Given the description of an element on the screen output the (x, y) to click on. 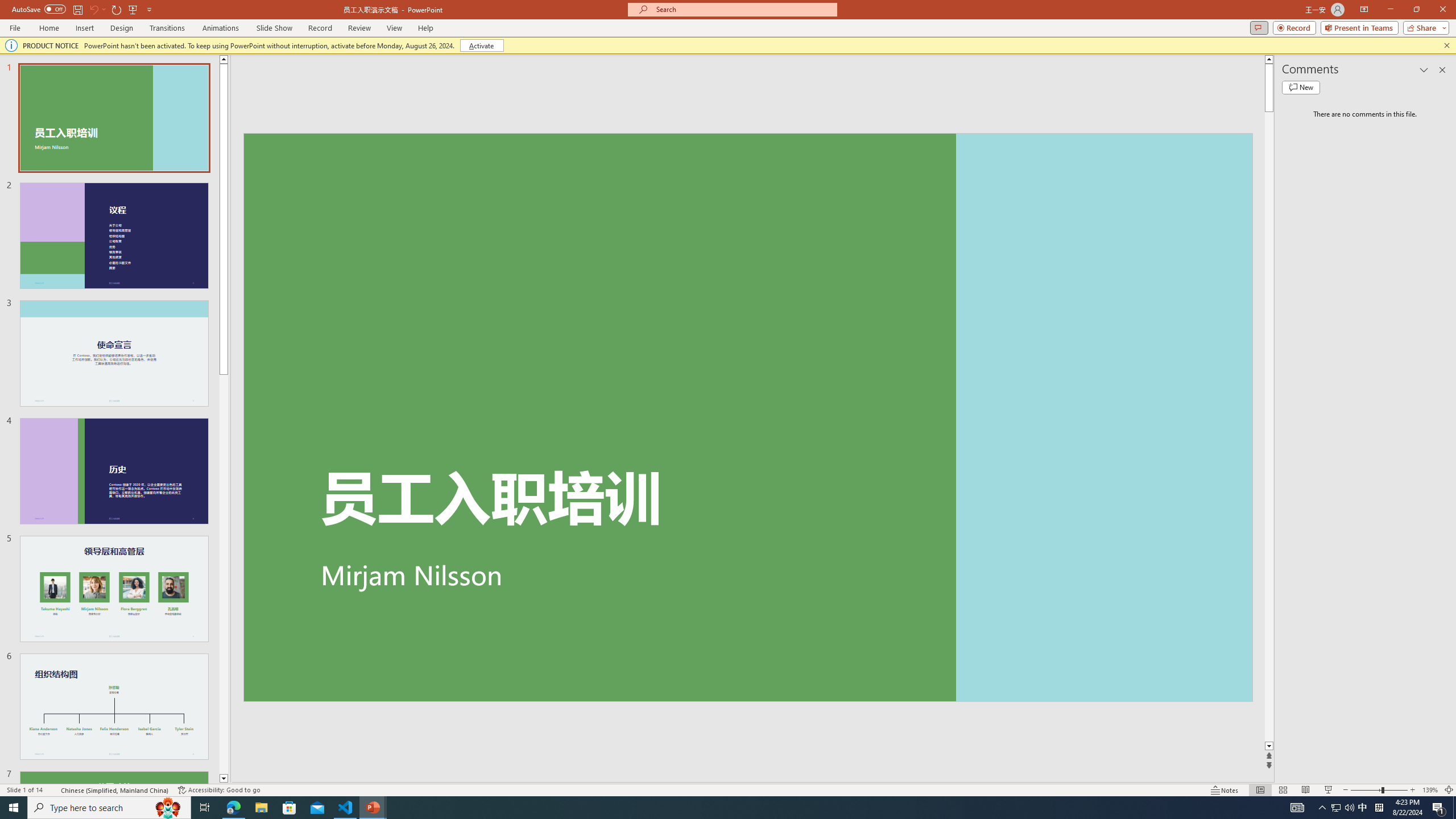
Accessibility Checker Accessibility: Good to go (218, 790)
Activate (481, 45)
